Given the description of an element on the screen output the (x, y) to click on. 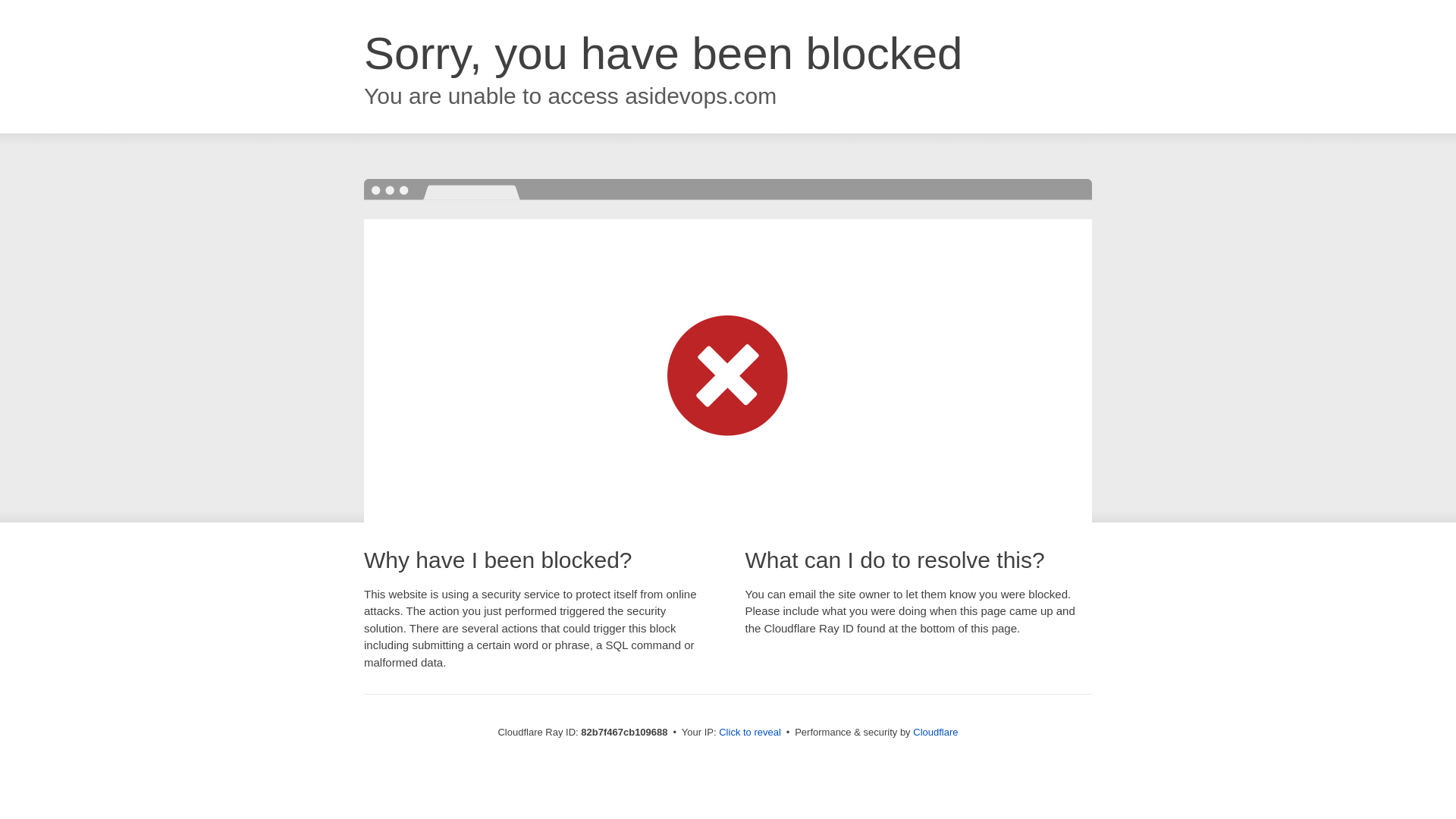
Cloudflare Element type: text (935, 731)
Click to reveal Element type: text (749, 732)
